Given the description of an element on the screen output the (x, y) to click on. 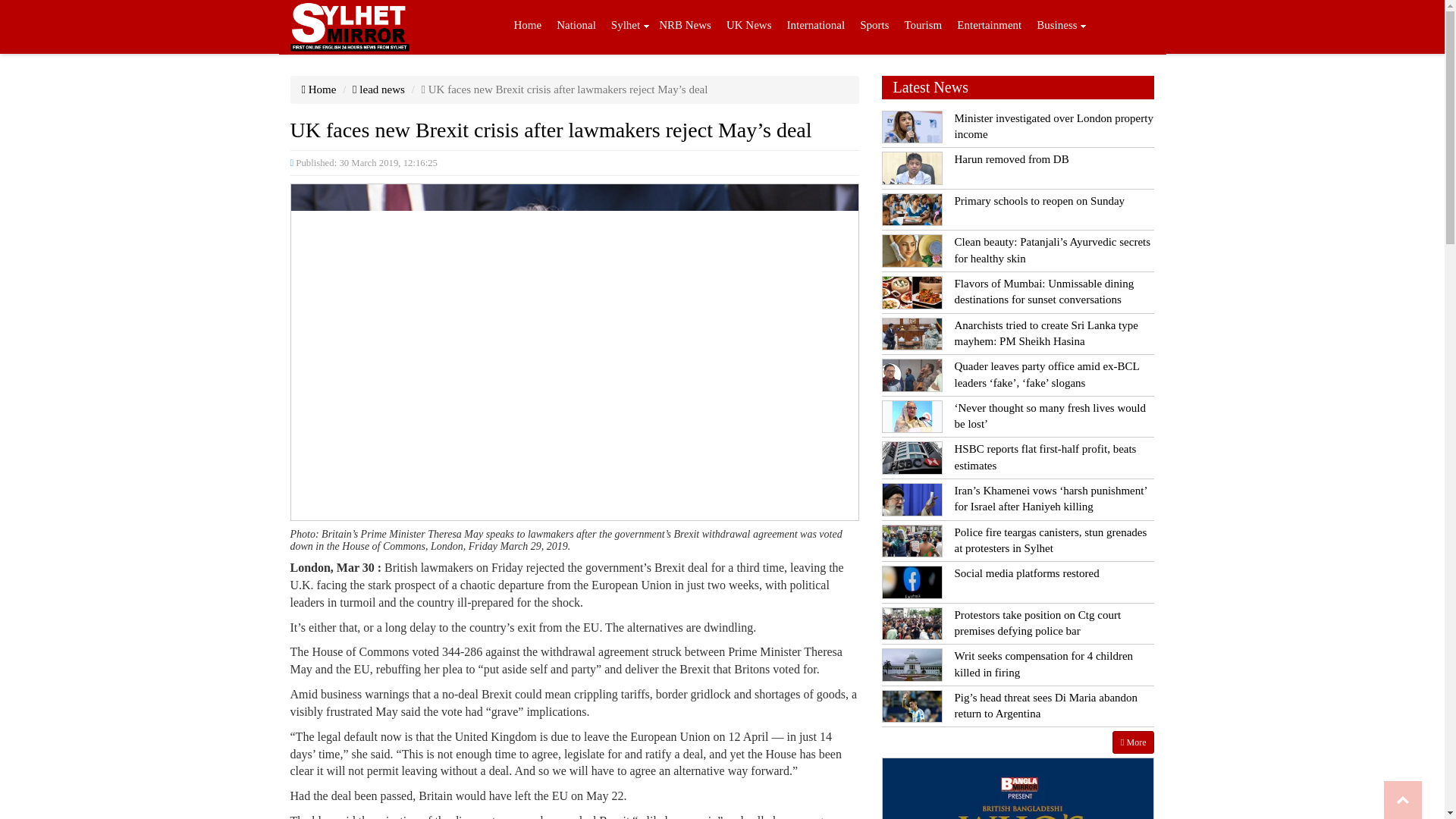
Entertainment (989, 26)
National (576, 26)
Tourism (922, 26)
UK News (748, 26)
Business (1056, 26)
NRB News (684, 26)
logo (349, 27)
International (815, 26)
